Given the description of an element on the screen output the (x, y) to click on. 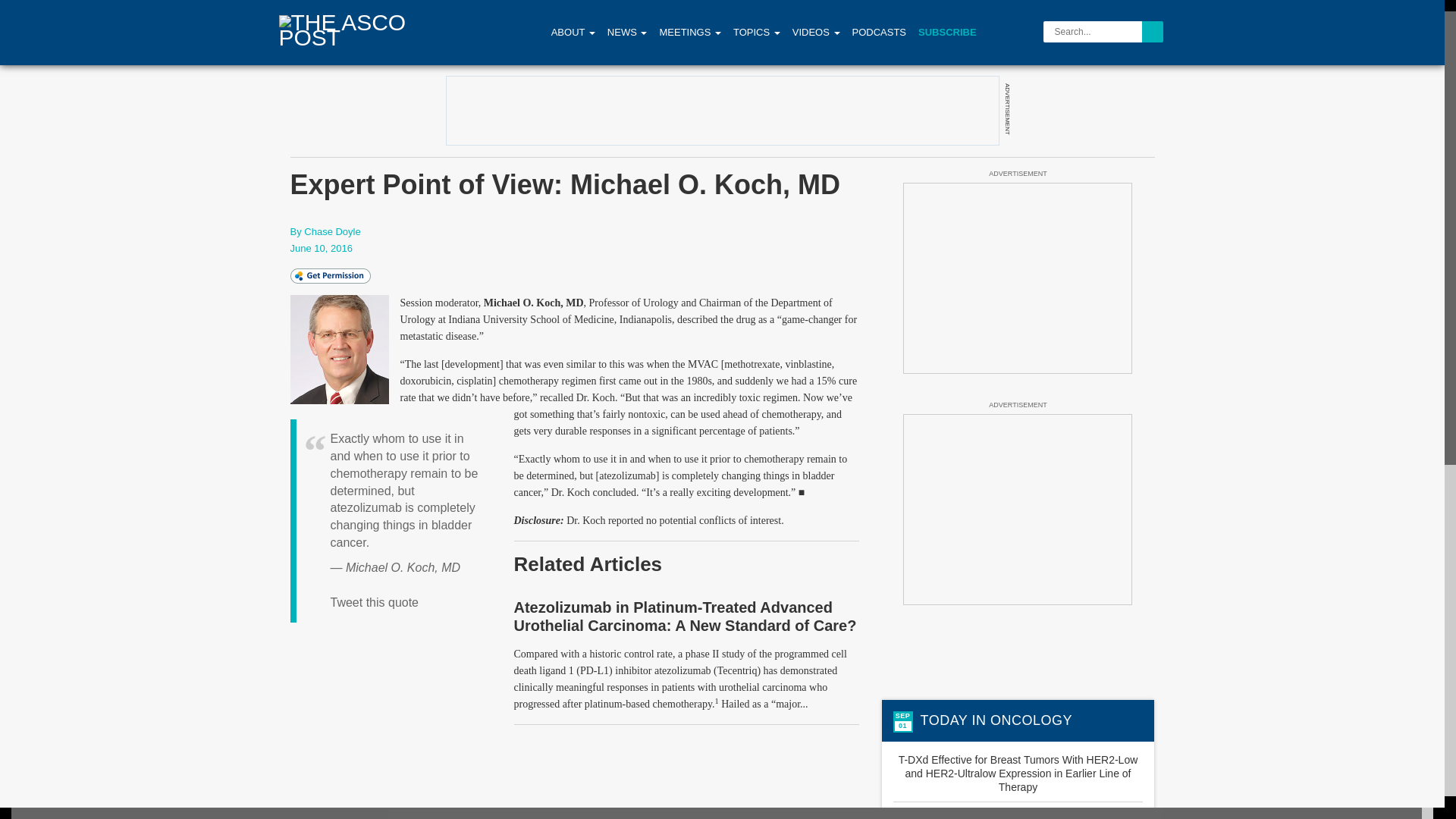
PODCASTS (878, 32)
June 10, 2016 (320, 247)
MEETINGS (689, 32)
TOPICS (756, 32)
By Chase Doyle (324, 231)
VIDEOS (815, 32)
SUBSCRIBE (947, 32)
NEWS (627, 32)
